Given the description of an element on the screen output the (x, y) to click on. 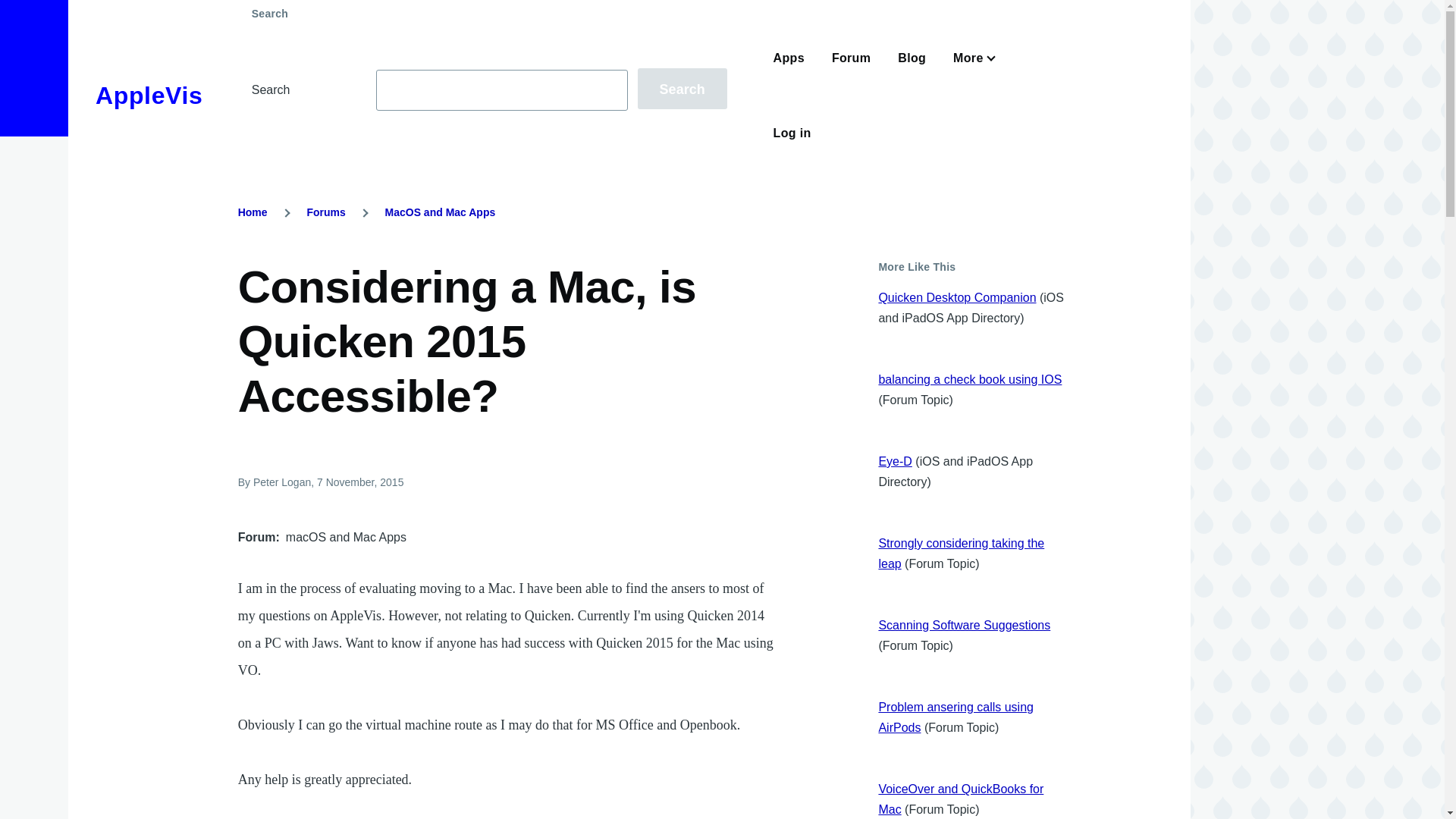
Skip to main content (595, 6)
Search (681, 87)
balancing a check book using IOS (969, 379)
Home (149, 94)
Home (252, 212)
Quicken Desktop Companion (956, 297)
Problem ansering calls using AirPods (955, 717)
Eye-D (894, 461)
VoiceOver and QuickBooks for Mac (960, 798)
MacOS and Mac Apps (440, 212)
